Given the description of an element on the screen output the (x, y) to click on. 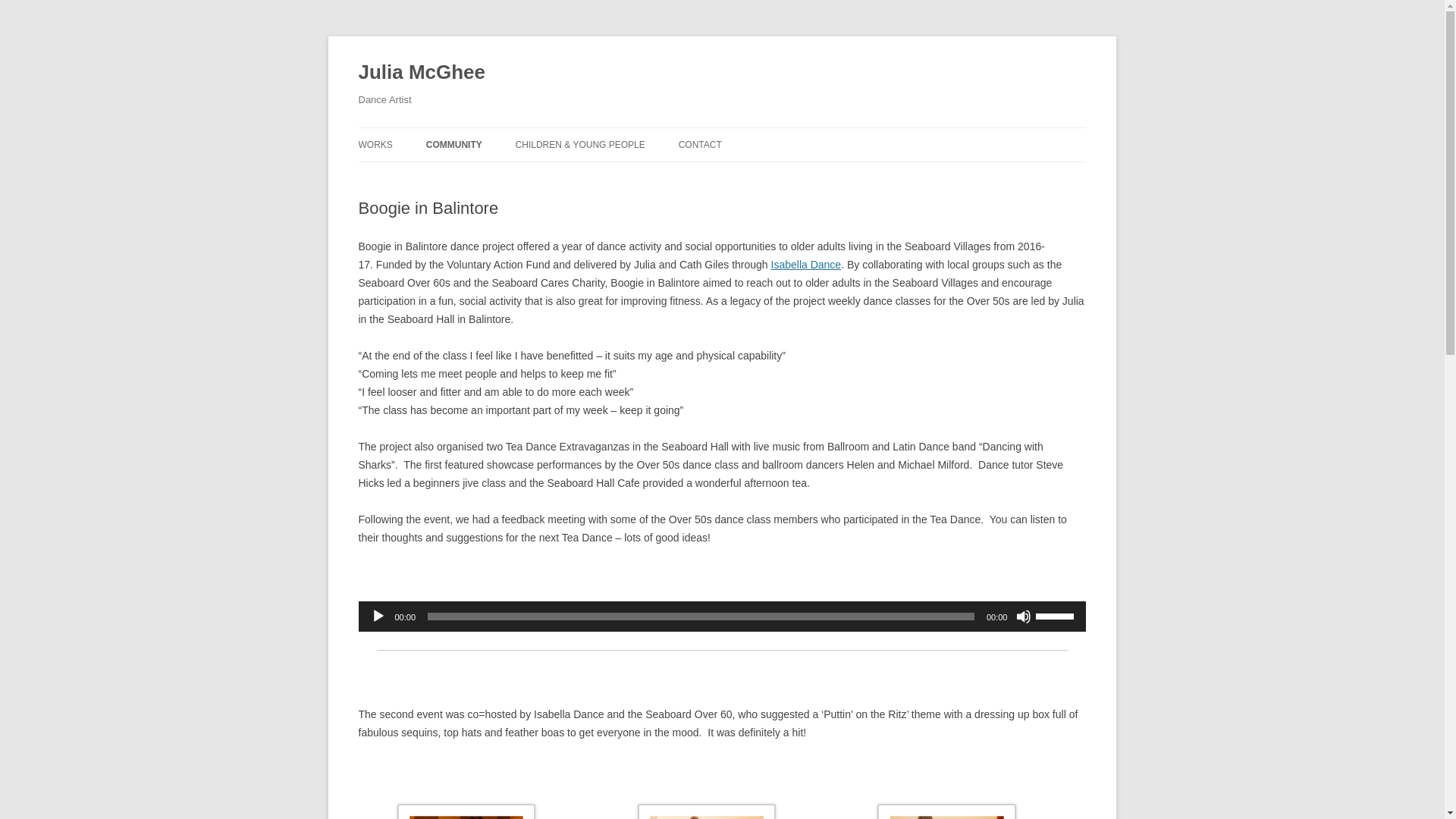
Play (377, 616)
Isabella Dance (806, 264)
Julia McGhee (421, 72)
Isabella Dance (806, 264)
FISHING FOR FOOTAGE (502, 176)
CONTACT (700, 144)
Mute (1023, 616)
WORKS (374, 144)
COMMUNITY (453, 144)
